Given the description of an element on the screen output the (x, y) to click on. 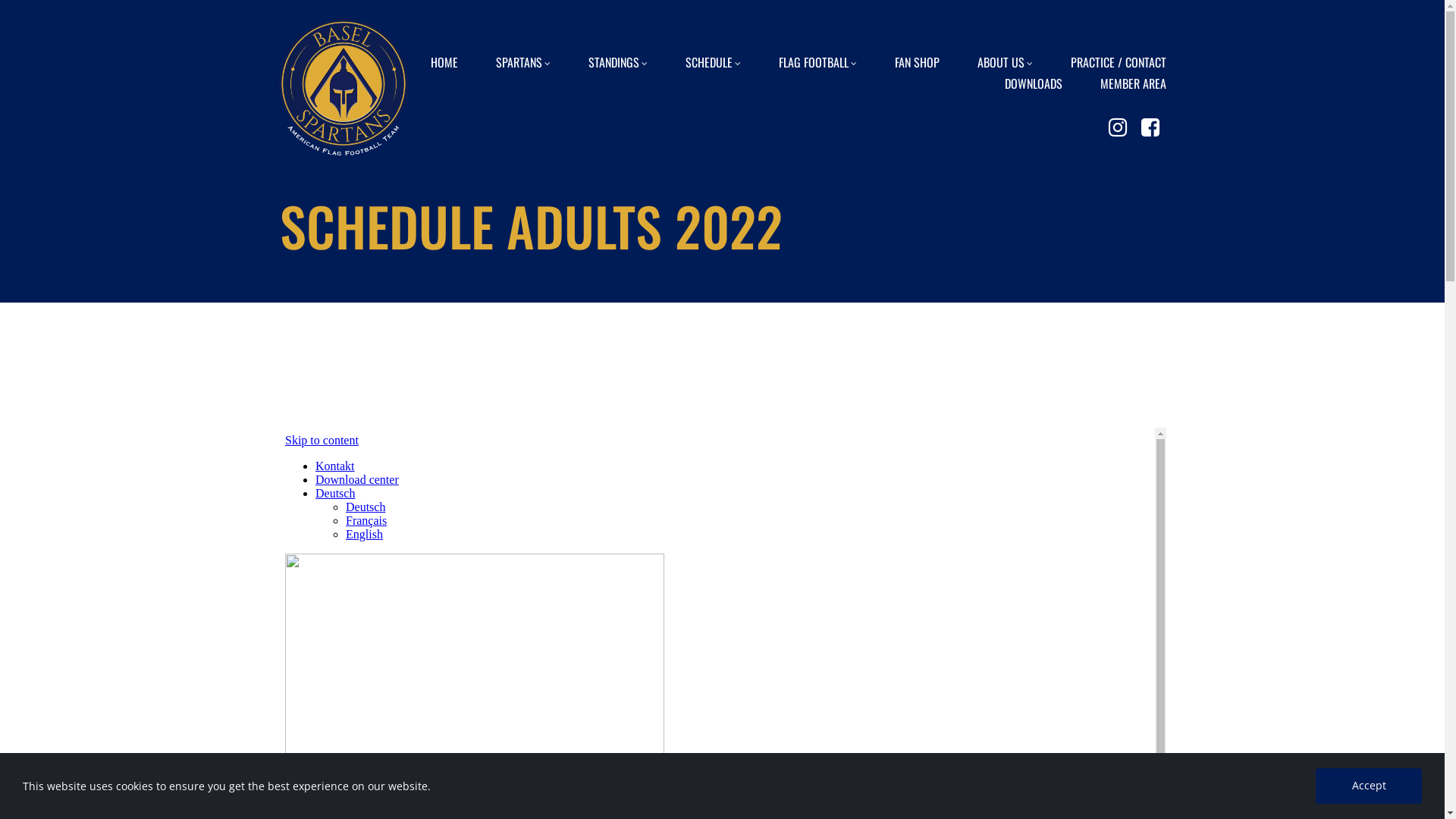
STANDINGS Element type: text (617, 59)
FAN SHOP Element type: text (916, 59)
SCHEDULE Element type: text (712, 59)
PRACTICE / CONTACT Element type: text (1118, 59)
FLAG FOOTBALL Element type: text (817, 59)
ABOUT US Element type: text (1004, 59)
DOWNLOADS Element type: text (1032, 81)
Accept Element type: text (1368, 785)
MEMBER AREA Element type: text (1132, 81)
SPARTANS Element type: text (522, 59)
HOME Element type: text (444, 59)
